Given the description of an element on the screen output the (x, y) to click on. 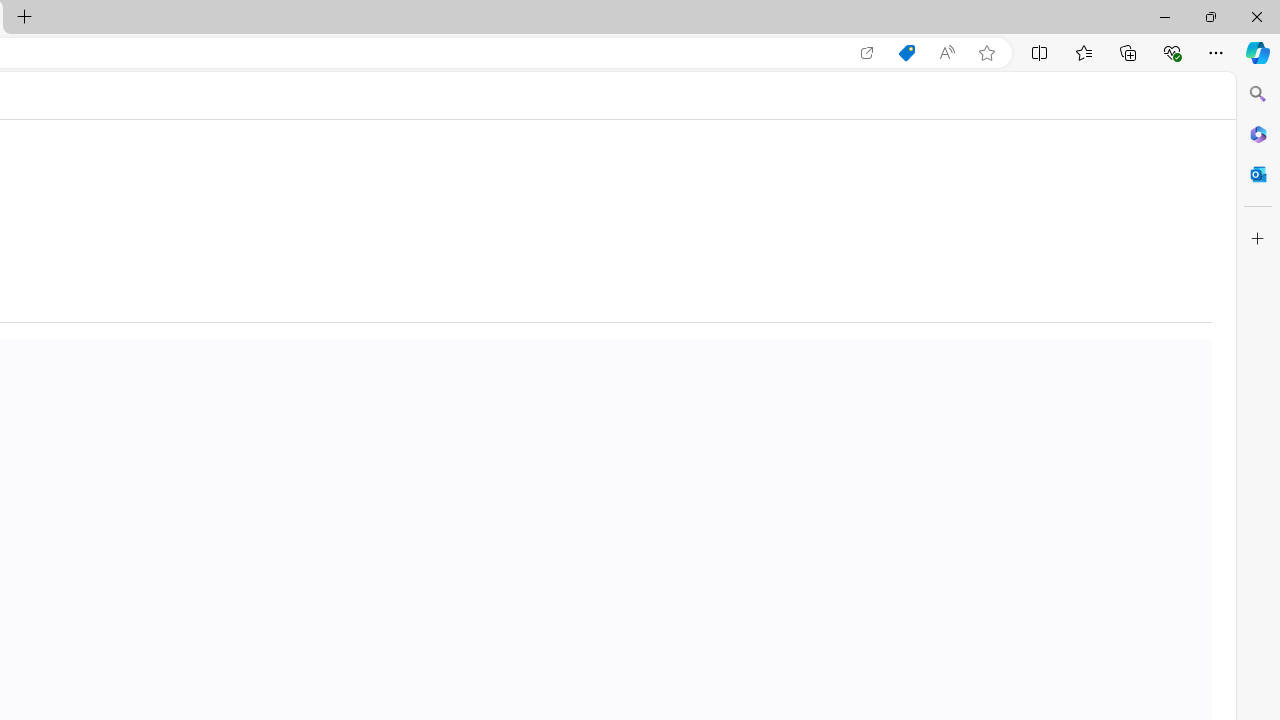
Open in app (867, 53)
Shopping in Microsoft Edge (906, 53)
